Given the description of an element on the screen output the (x, y) to click on. 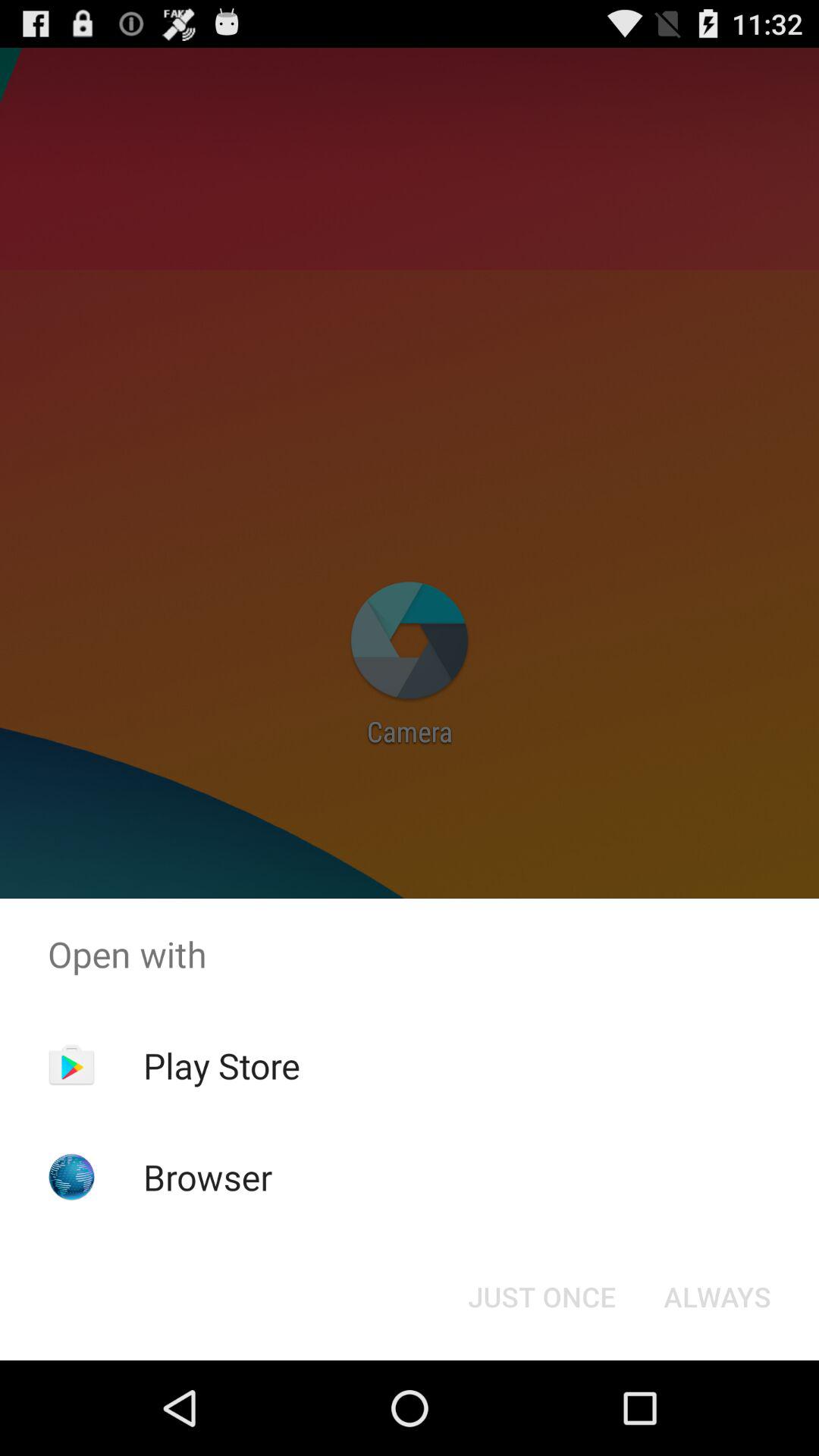
turn off always button (717, 1296)
